Given the description of an element on the screen output the (x, y) to click on. 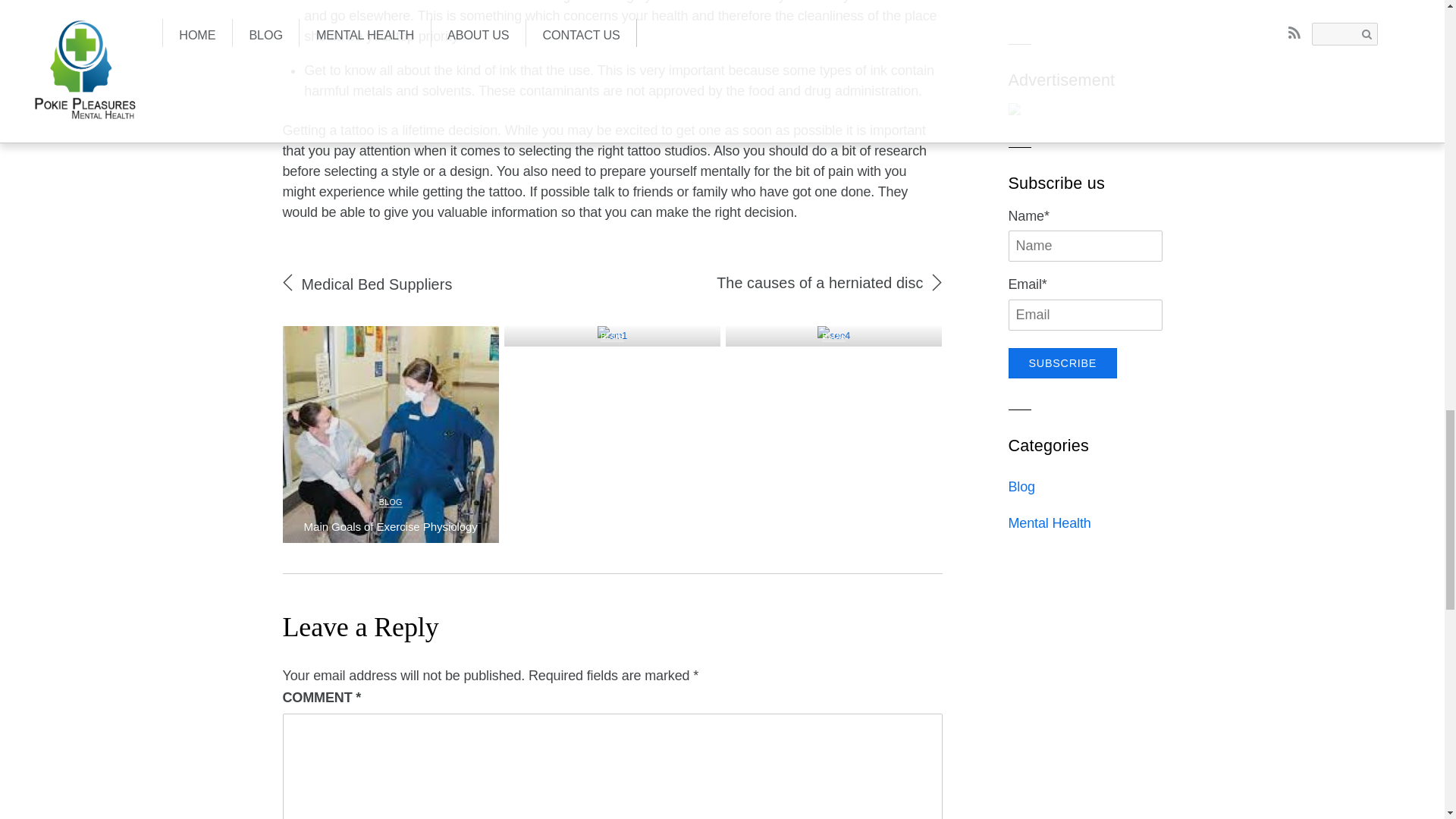
BLOG (390, 501)
Subscribe (1063, 363)
Subscribe (1063, 363)
Medical Bed Suppliers (376, 283)
Main Goals of Exercise Physiology (390, 526)
The causes of a herniated disc (819, 282)
How to Find a Good Nutritionist in the Gold Coast (1081, 1)
BLOG (833, 335)
Mental Health (1049, 522)
BLOG (611, 335)
